Given the description of an element on the screen output the (x, y) to click on. 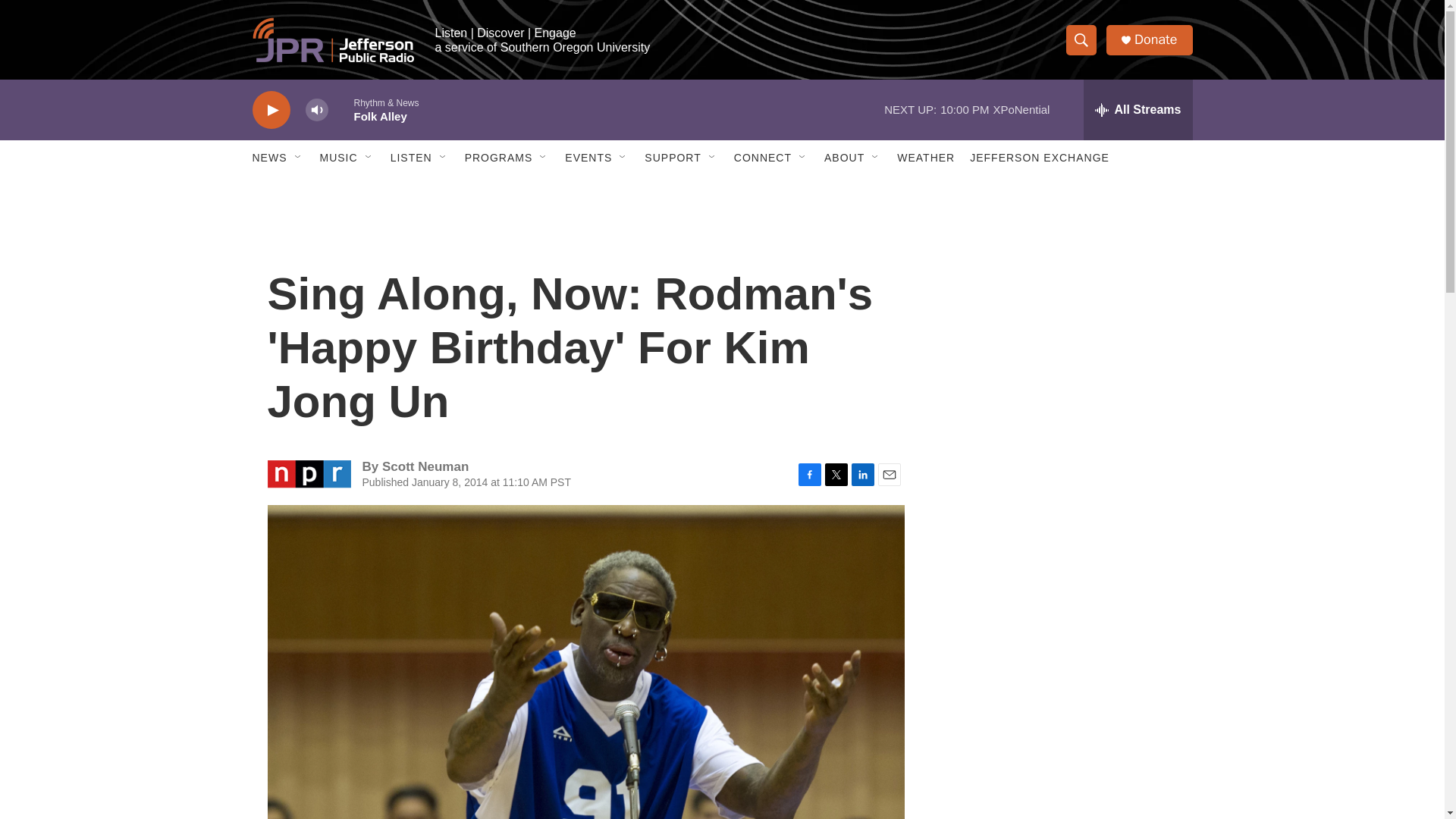
3rd party ad content (1062, 536)
3rd party ad content (1062, 740)
3rd party ad content (1062, 316)
